Given the description of an element on the screen output the (x, y) to click on. 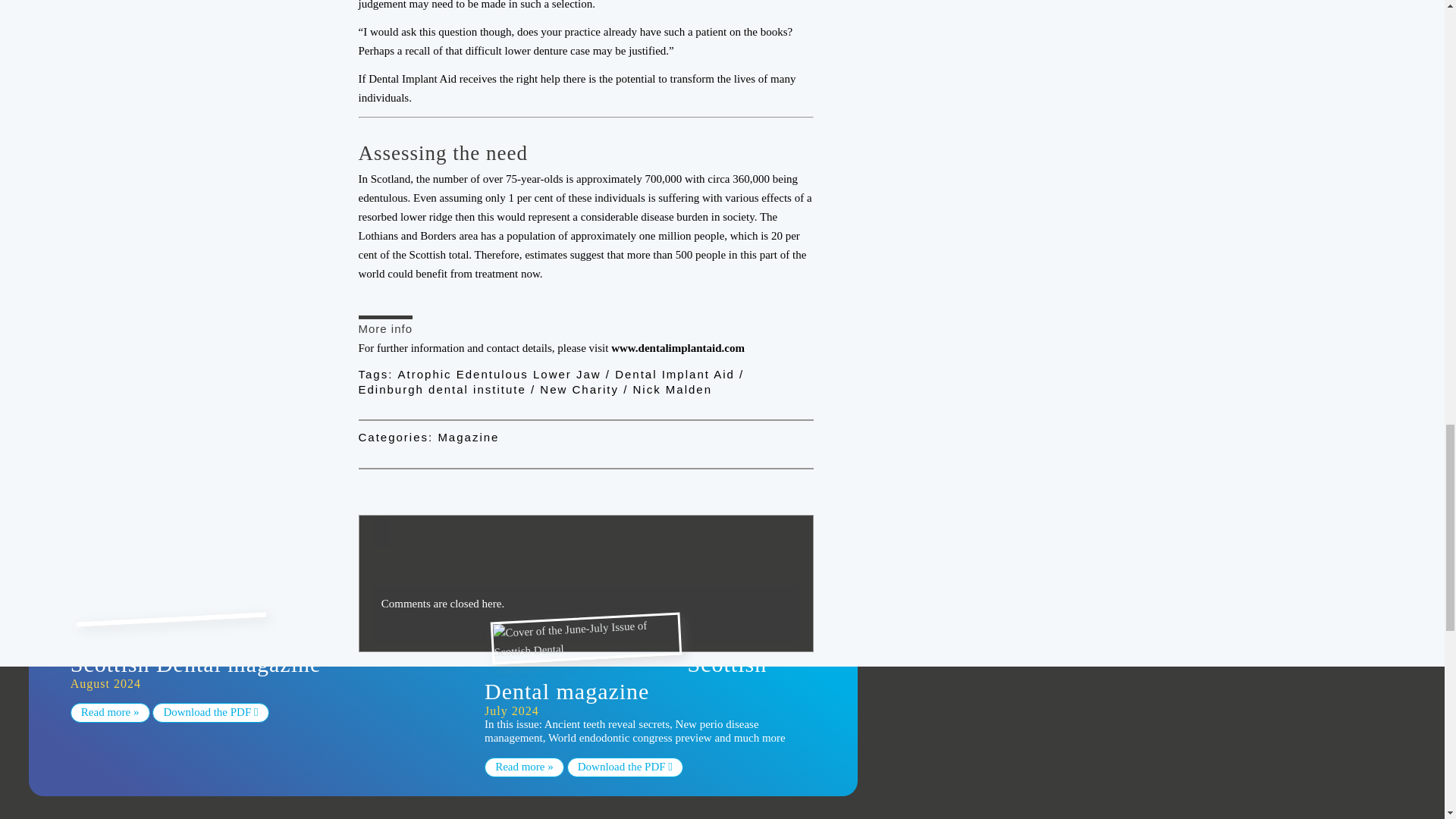
Edinburgh dental institute (443, 389)
Click here to download a PDF (209, 712)
Magazine (468, 436)
Click here to download a PDF (624, 767)
Dental Implant Aid (676, 373)
Atrophic Edentulous Lower Jaw (501, 373)
www.dentalimplantaid.com (677, 347)
New Charity (581, 389)
Nick Malden (671, 389)
